Given the description of an element on the screen output the (x, y) to click on. 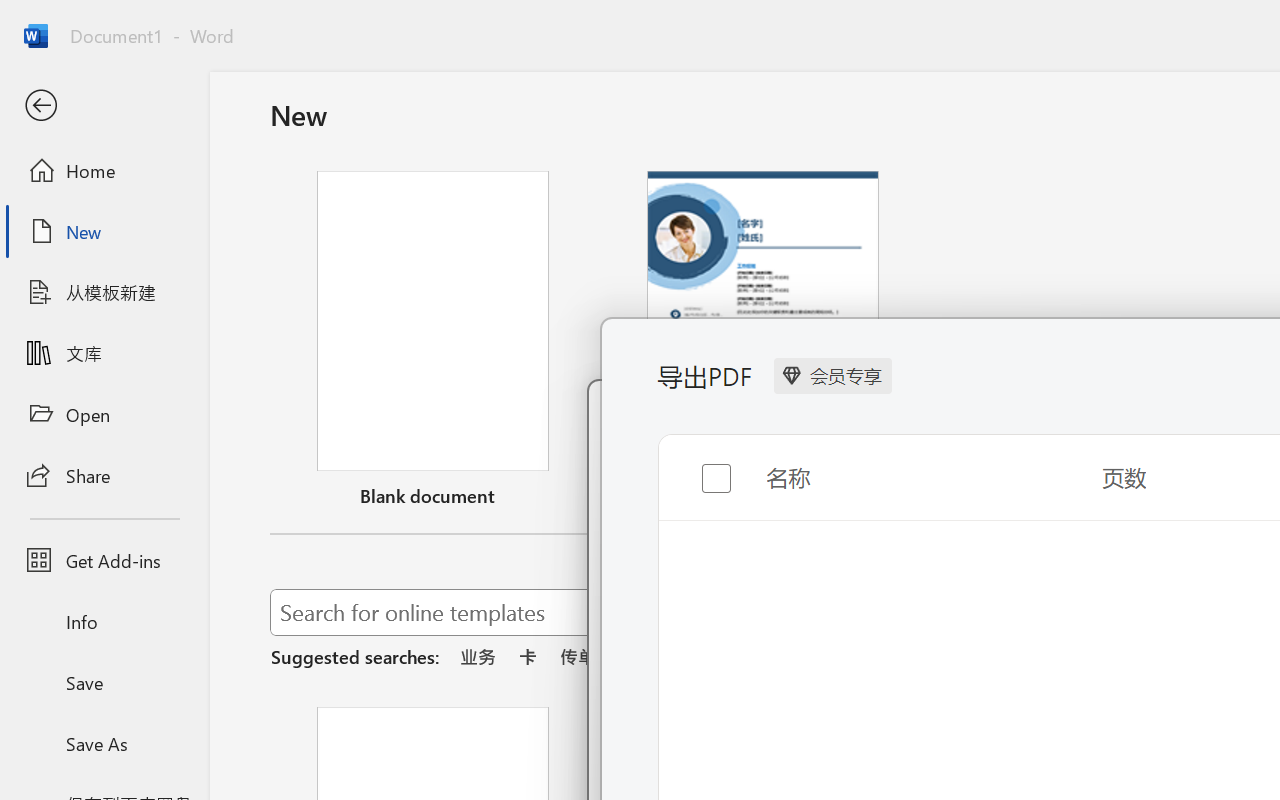
Toggle selection for all items (699, 471)
Back (104, 106)
Toggle selection for all items (699, 462)
Save As (104, 743)
Info (104, 621)
Get Add-ins (104, 560)
